Given the description of an element on the screen output the (x, y) to click on. 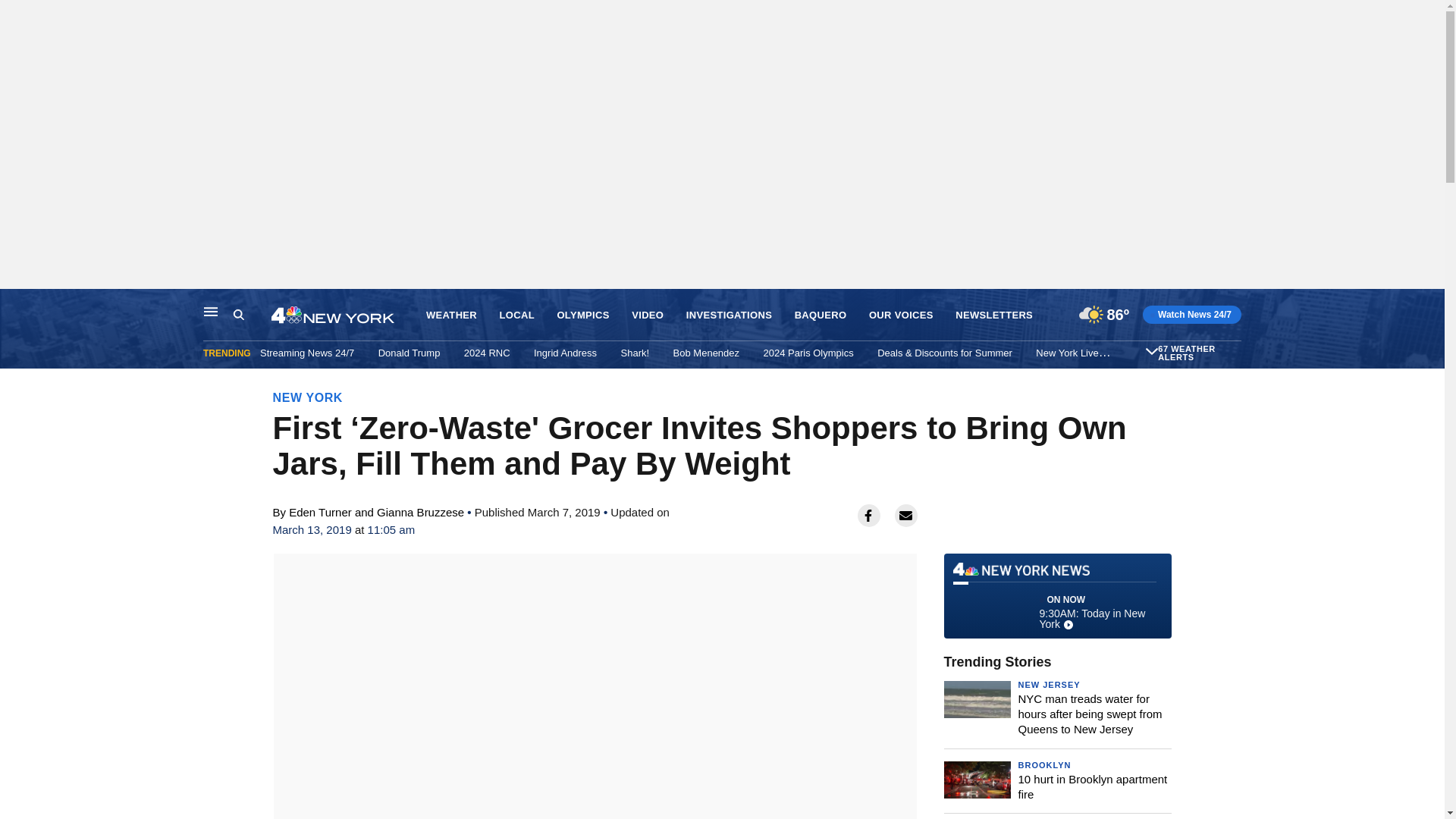
2024 Paris Olympics (807, 352)
Main Navigation (210, 311)
Bob Menendez (705, 352)
Donald Trump (409, 352)
NEW YORK (308, 397)
Shark! (635, 352)
WEATHER (451, 315)
2024 RNC (487, 352)
LOCAL (516, 315)
Search (238, 314)
Search (252, 314)
67 WEATHER ALERTS (1197, 352)
INVESTIGATIONS (728, 315)
New York Live (1066, 352)
OUR VOICES (901, 315)
